Given the description of an element on the screen output the (x, y) to click on. 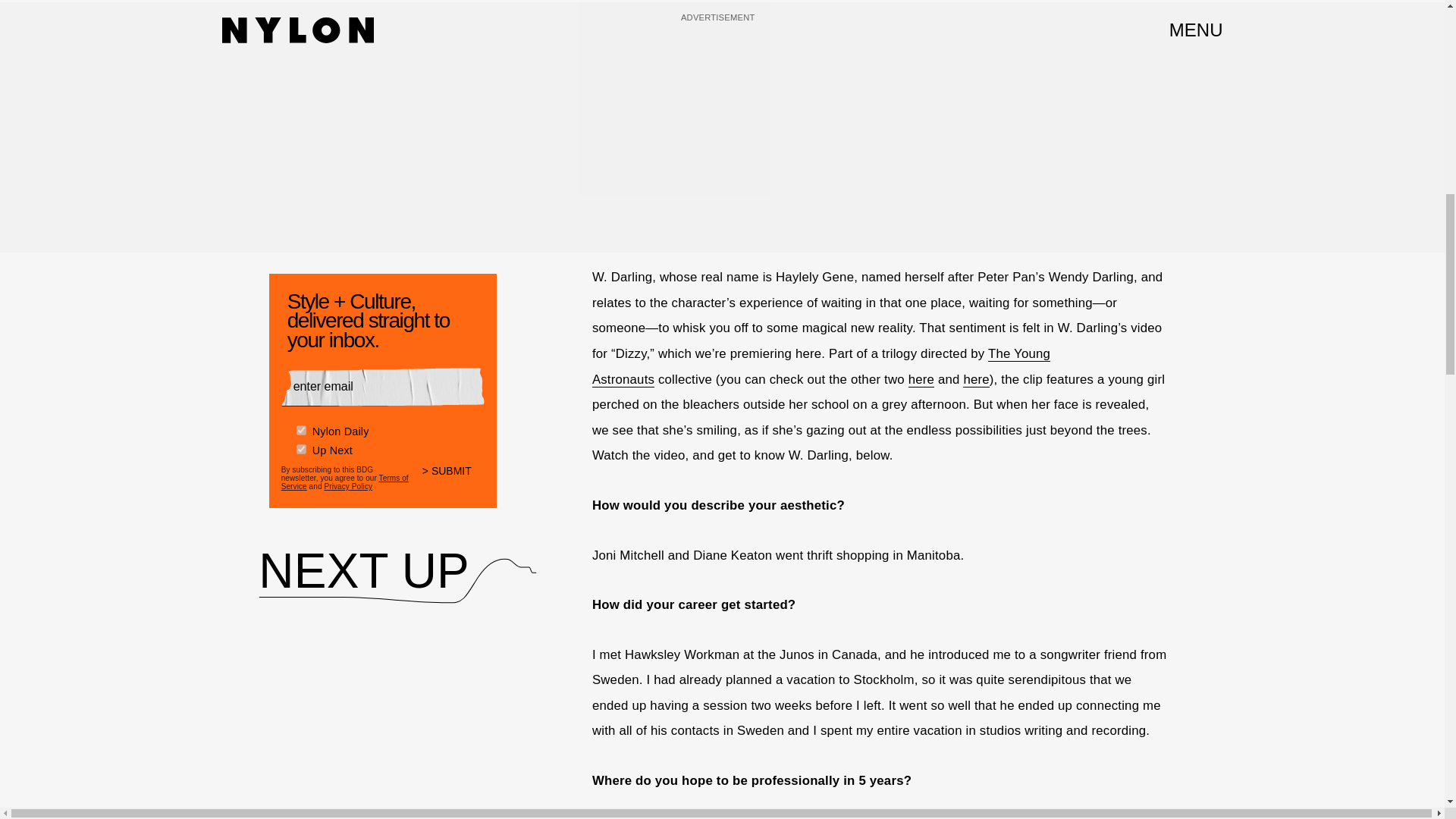
Privacy Policy (347, 486)
here (975, 379)
SUBMIT (453, 481)
Terms of Service (345, 482)
here (921, 379)
The Young Astronauts (820, 366)
